Given the description of an element on the screen output the (x, y) to click on. 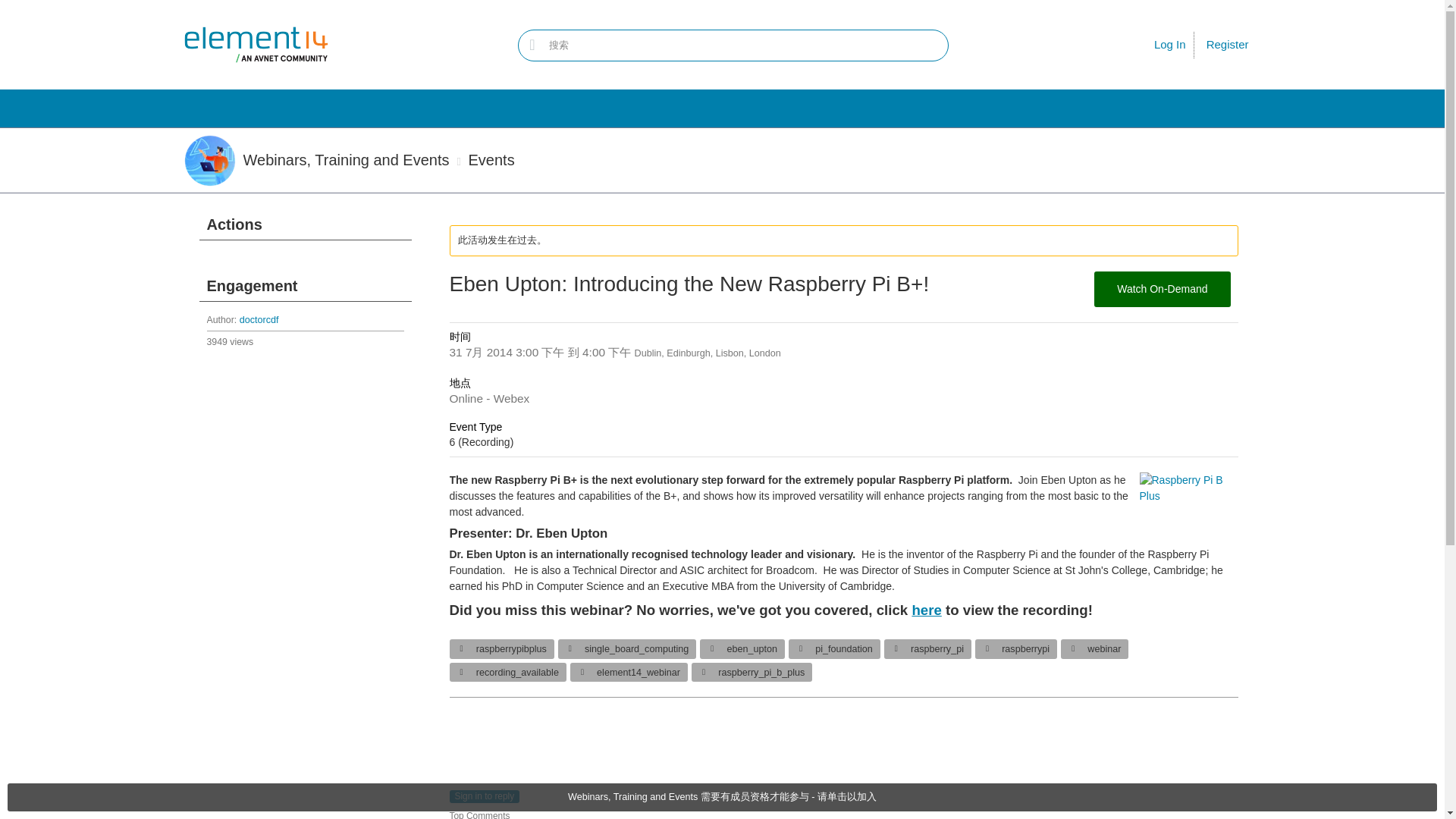
Log In (1170, 44)
Register (1226, 44)
Register (1226, 44)
Log In (1170, 44)
